Given the description of an element on the screen output the (x, y) to click on. 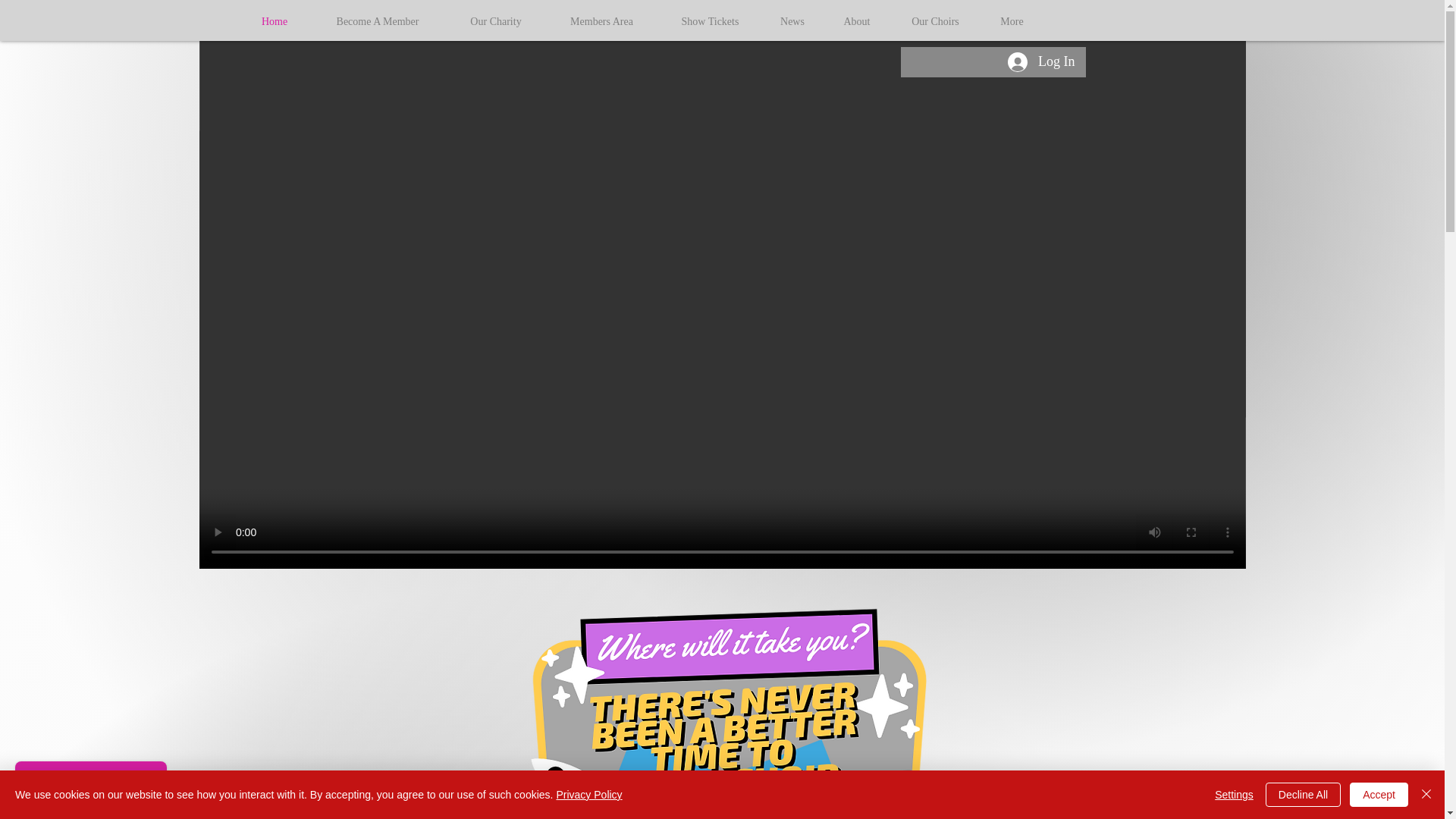
Our Charity (494, 21)
Our Choirs (935, 21)
Wix Chat (87, 786)
Log In (1041, 61)
Members Area (601, 21)
About (856, 21)
Become A Member (377, 21)
News (792, 21)
Show Tickets (710, 21)
A logo to explain why its amazing to join a choir (727, 705)
Home (274, 21)
